Given the description of an element on the screen output the (x, y) to click on. 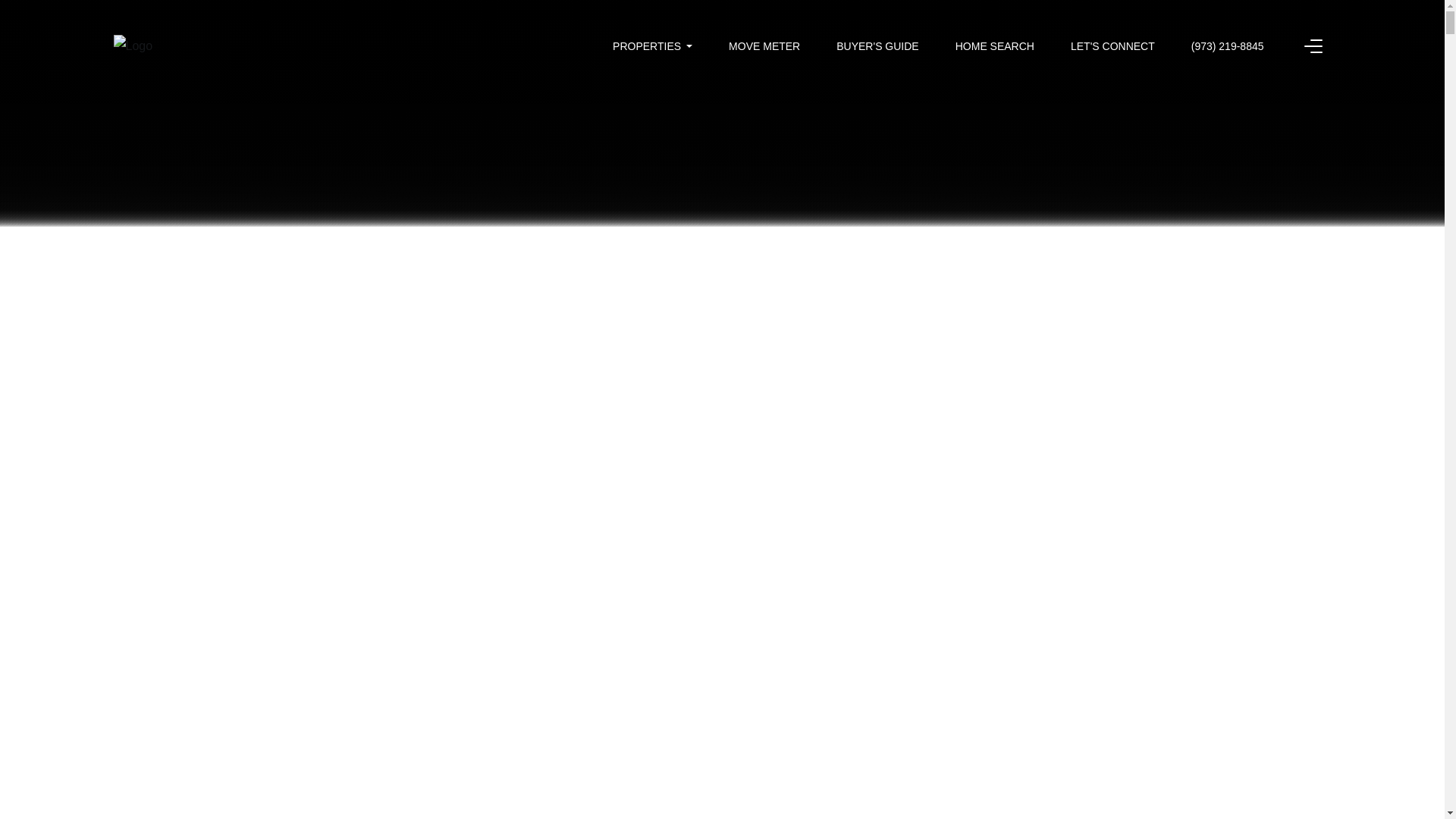
MOVE METER (764, 46)
PROPERTIES (652, 46)
BUYER'S GUIDE (876, 46)
LET'S CONNECT (1112, 46)
HOME SEARCH (994, 46)
